Given the description of an element on the screen output the (x, y) to click on. 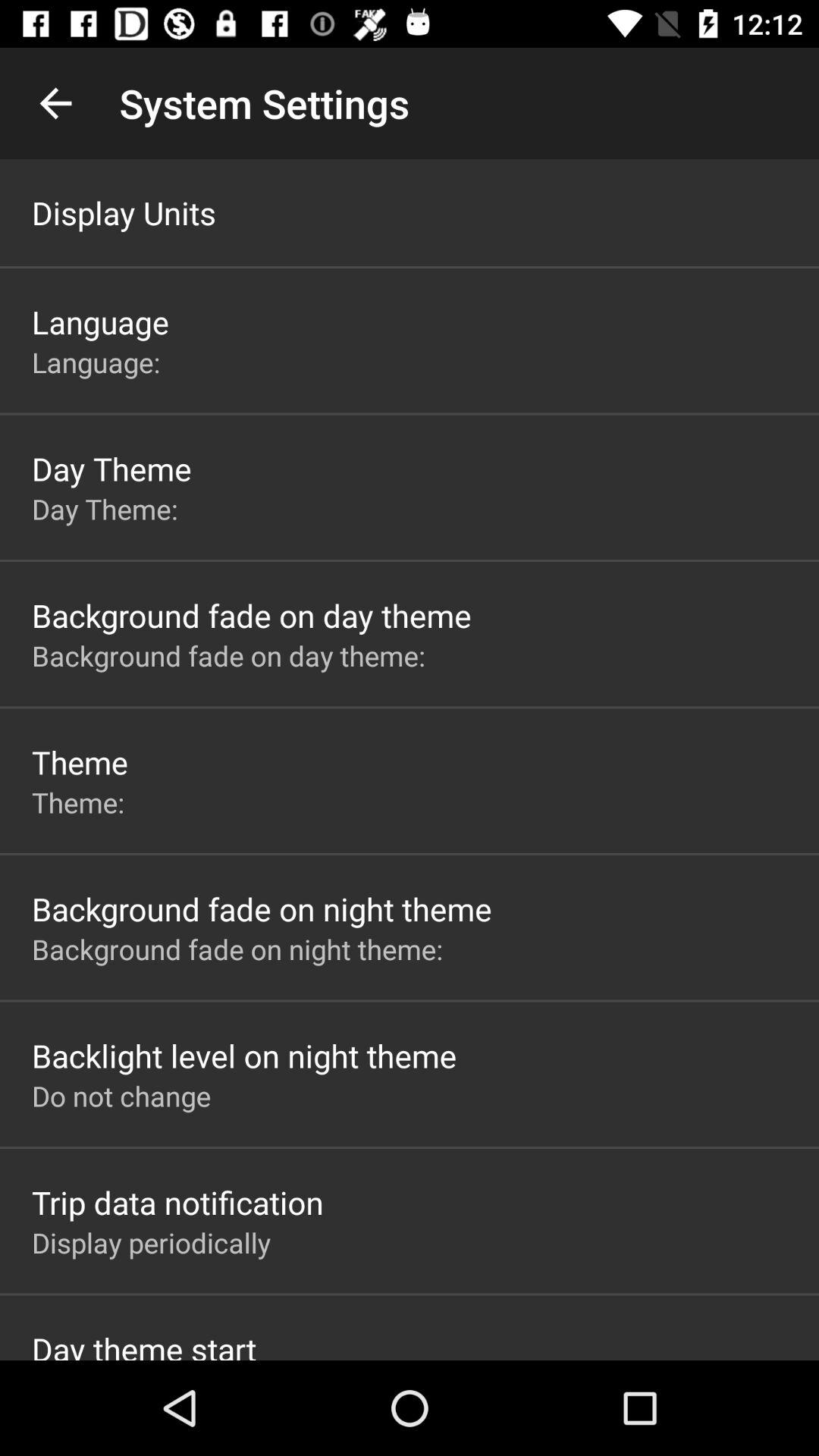
select app below the do not change item (177, 1201)
